Given the description of an element on the screen output the (x, y) to click on. 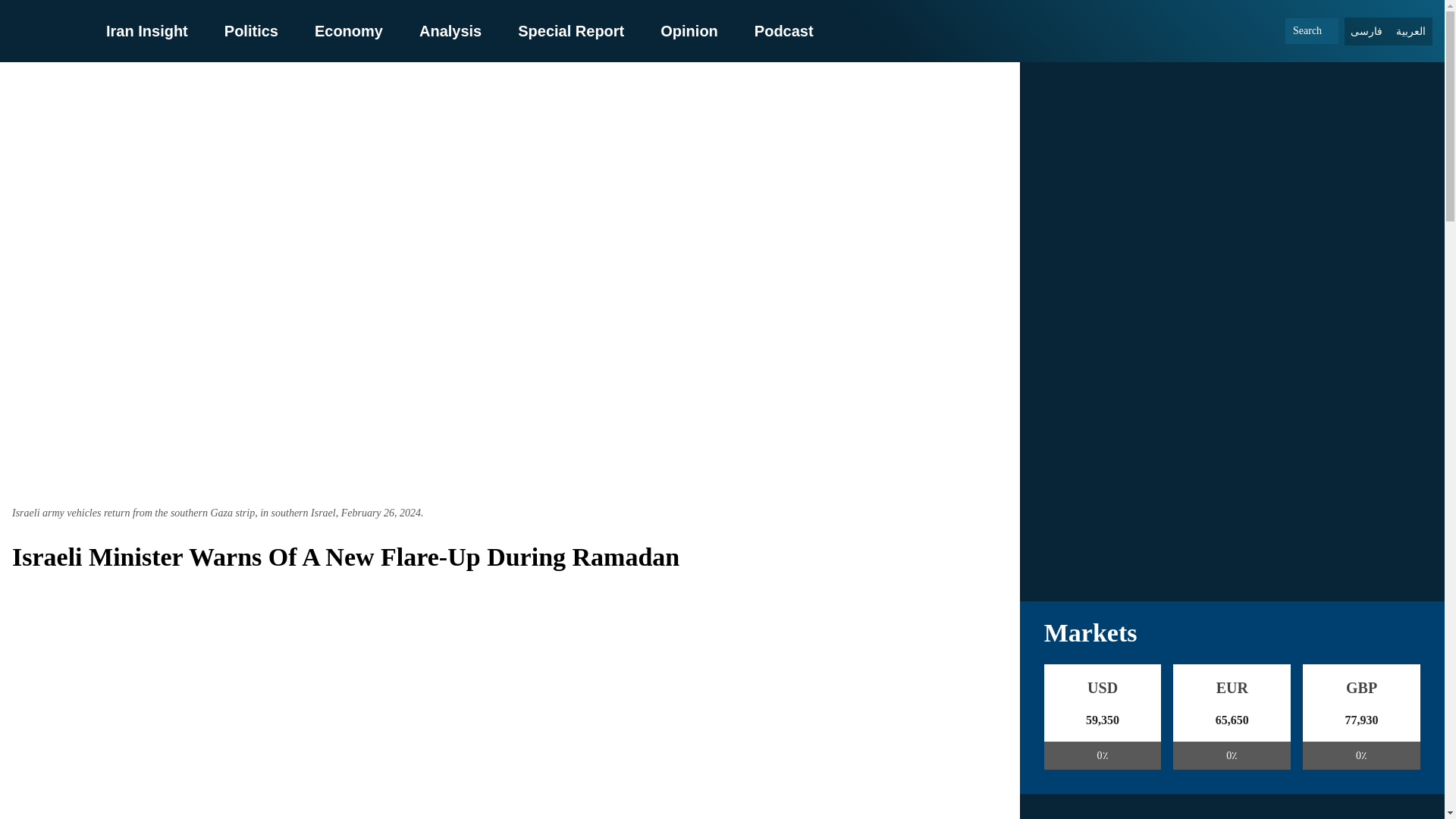
Podcast (783, 30)
Special Report (571, 30)
Iran Insight (146, 30)
Politics (251, 30)
Analysis (450, 30)
Live TV (1232, 479)
Economy (348, 30)
Opinion (689, 30)
